Given the description of an element on the screen output the (x, y) to click on. 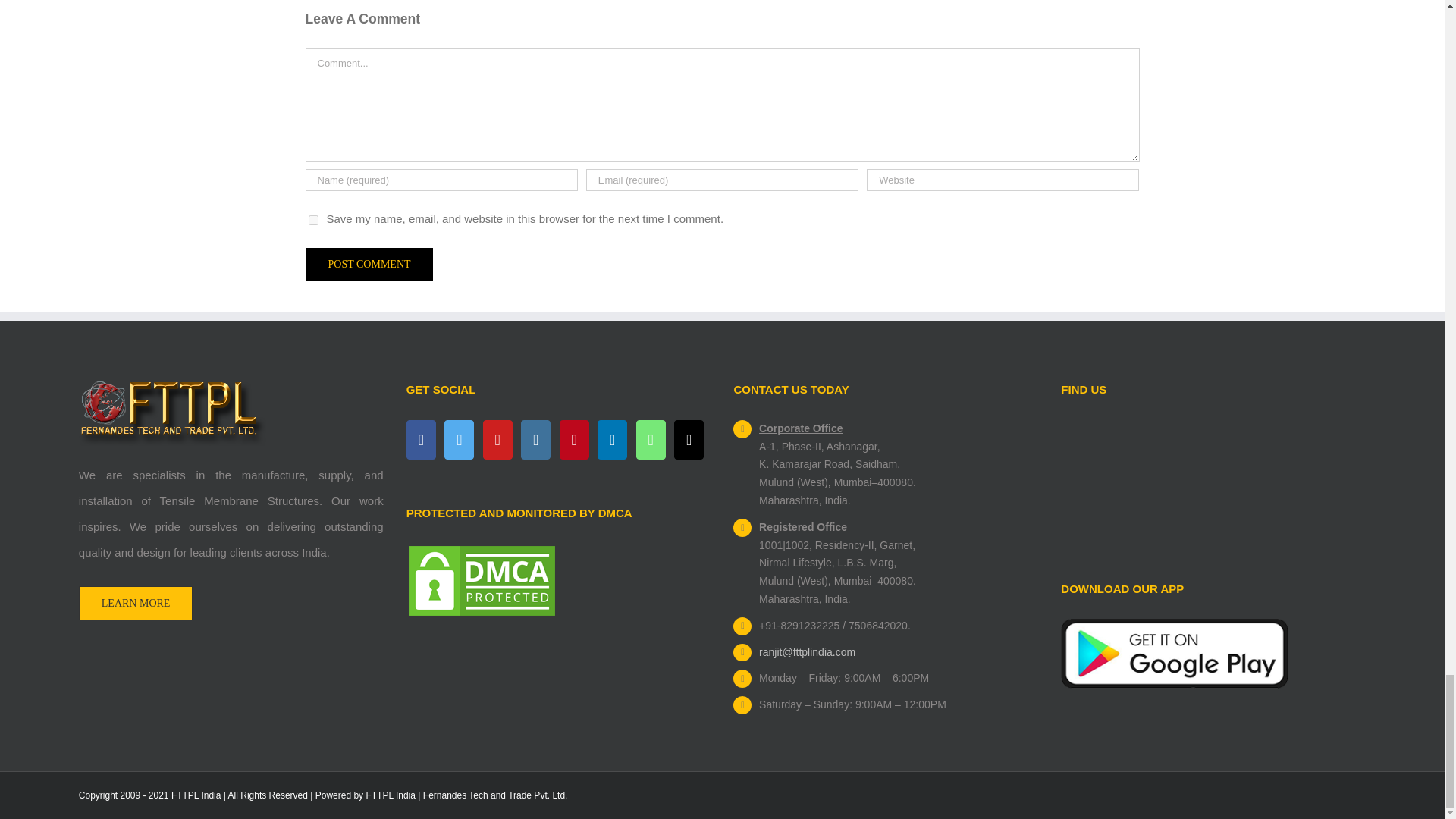
Post Comment (368, 264)
yes (312, 220)
